Given the description of an element on the screen output the (x, y) to click on. 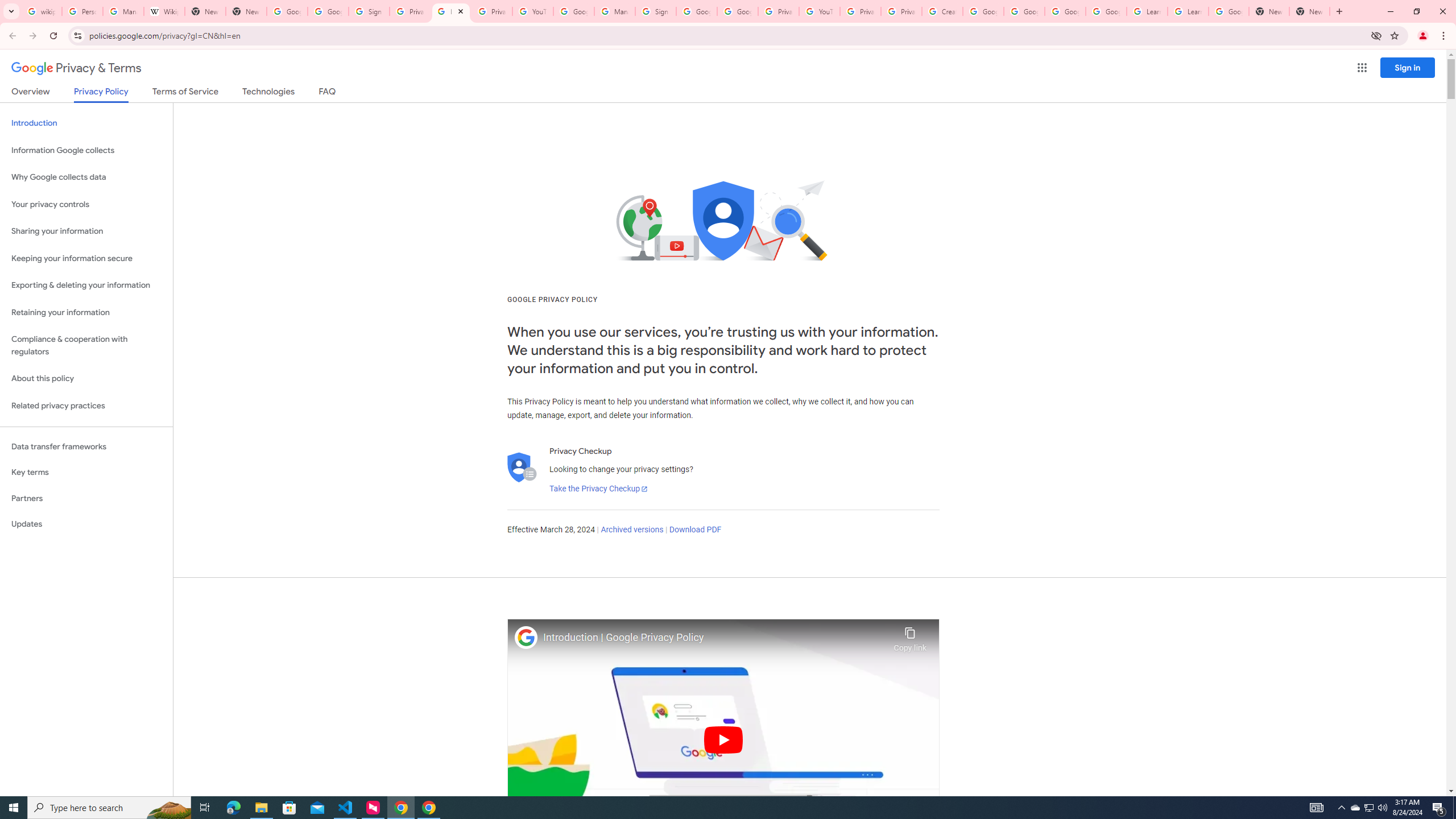
Keeping your information secure (86, 258)
Take the Privacy Checkup (597, 488)
Introduction | Google Privacy Policy (715, 637)
YouTube (532, 11)
Google Account Help (1064, 11)
New Tab (246, 11)
Partners (86, 497)
Google Account Help (1023, 11)
Information Google collects (86, 150)
